Given the description of an element on the screen output the (x, y) to click on. 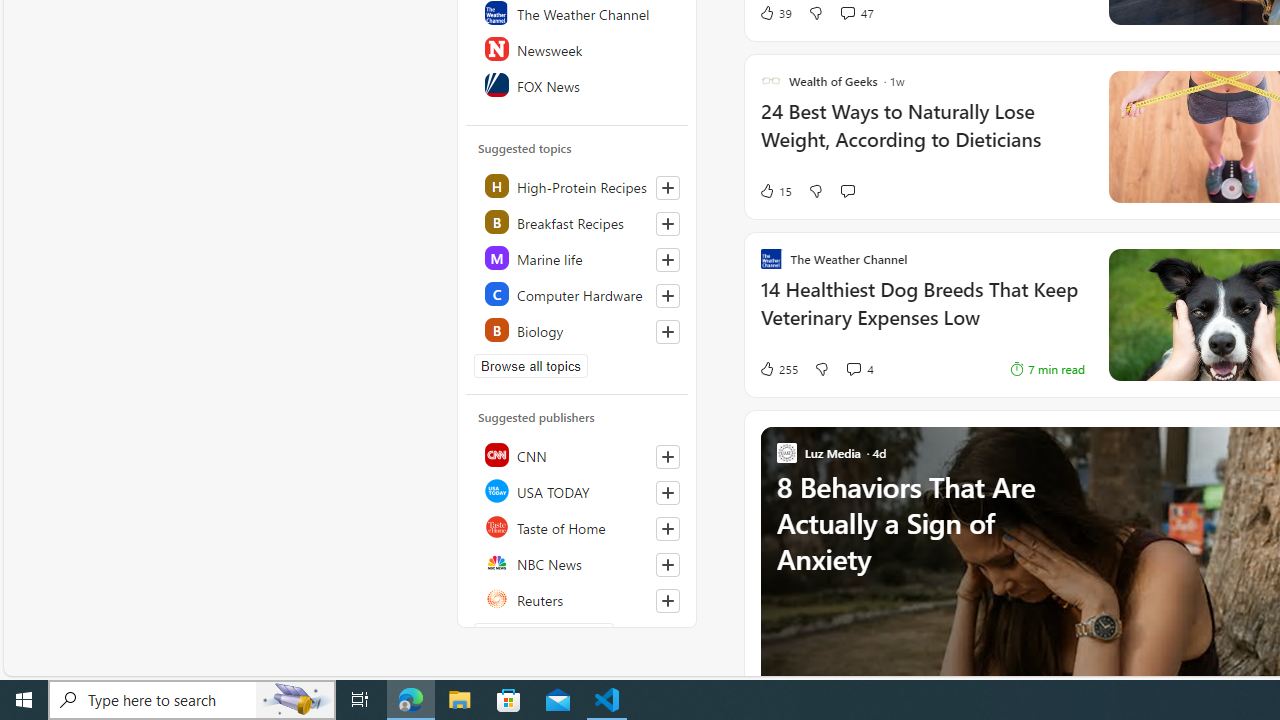
Class: highlight (578, 329)
Browse all publishers (543, 634)
NBC News (578, 562)
Dislike (821, 368)
Newsweek (578, 48)
Follow this topic (667, 331)
CNN (578, 454)
View comments 47 Comment (855, 12)
USA TODAY (578, 490)
39 Like (775, 12)
Follow this source (667, 600)
14 Healthiest Dog Breeds That Keep Veterinary Expenses Low (922, 313)
